Given the description of an element on the screen output the (x, y) to click on. 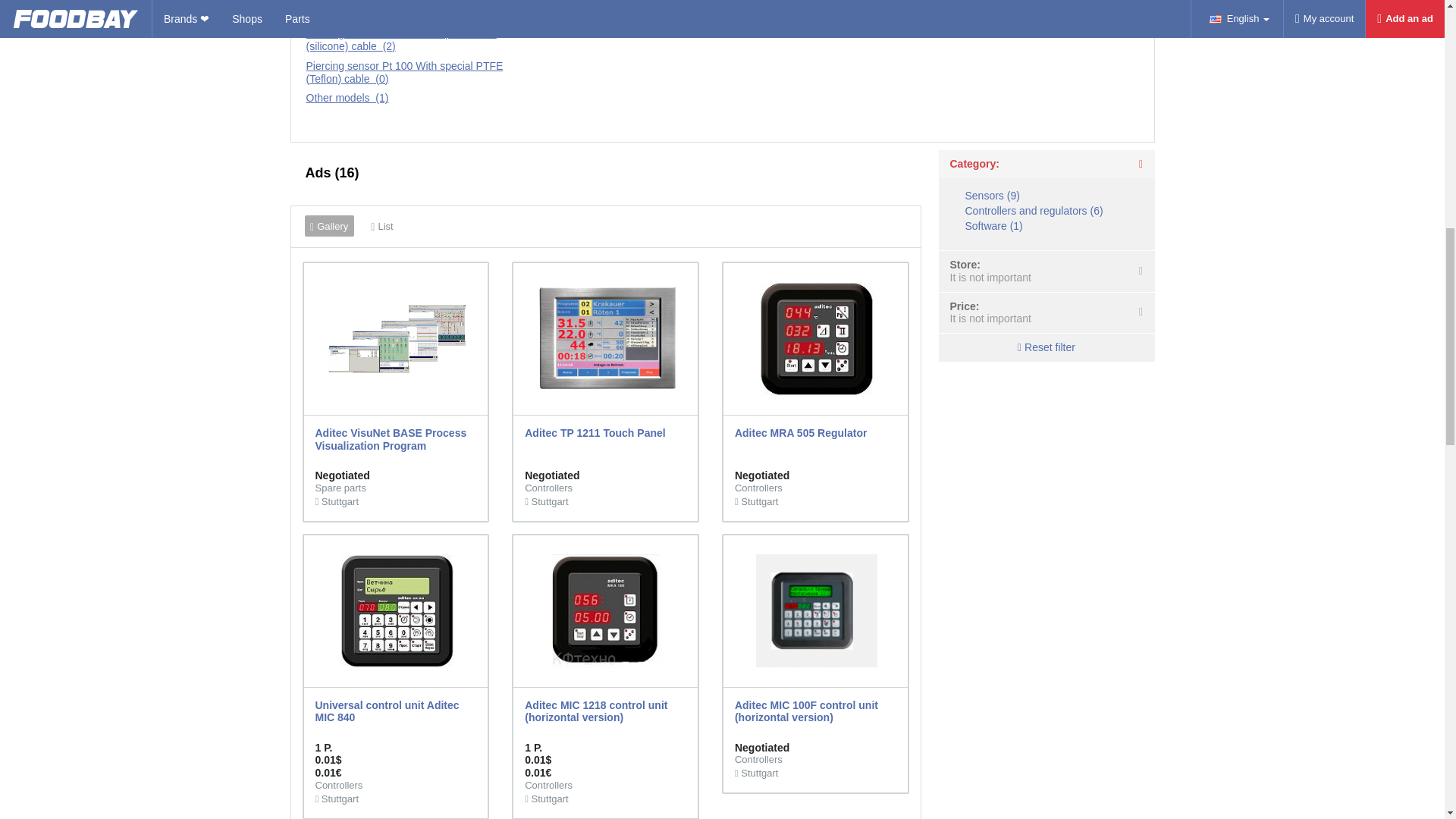
Universal control unit Aditec MIC 840 (397, 610)
Aditec MRA 505 Regulator (816, 338)
Aditec VisuNet BASE Process Visualization Program (396, 338)
Aditec TP 1211 Touch Panel (607, 338)
